Given the description of an element on the screen output the (x, y) to click on. 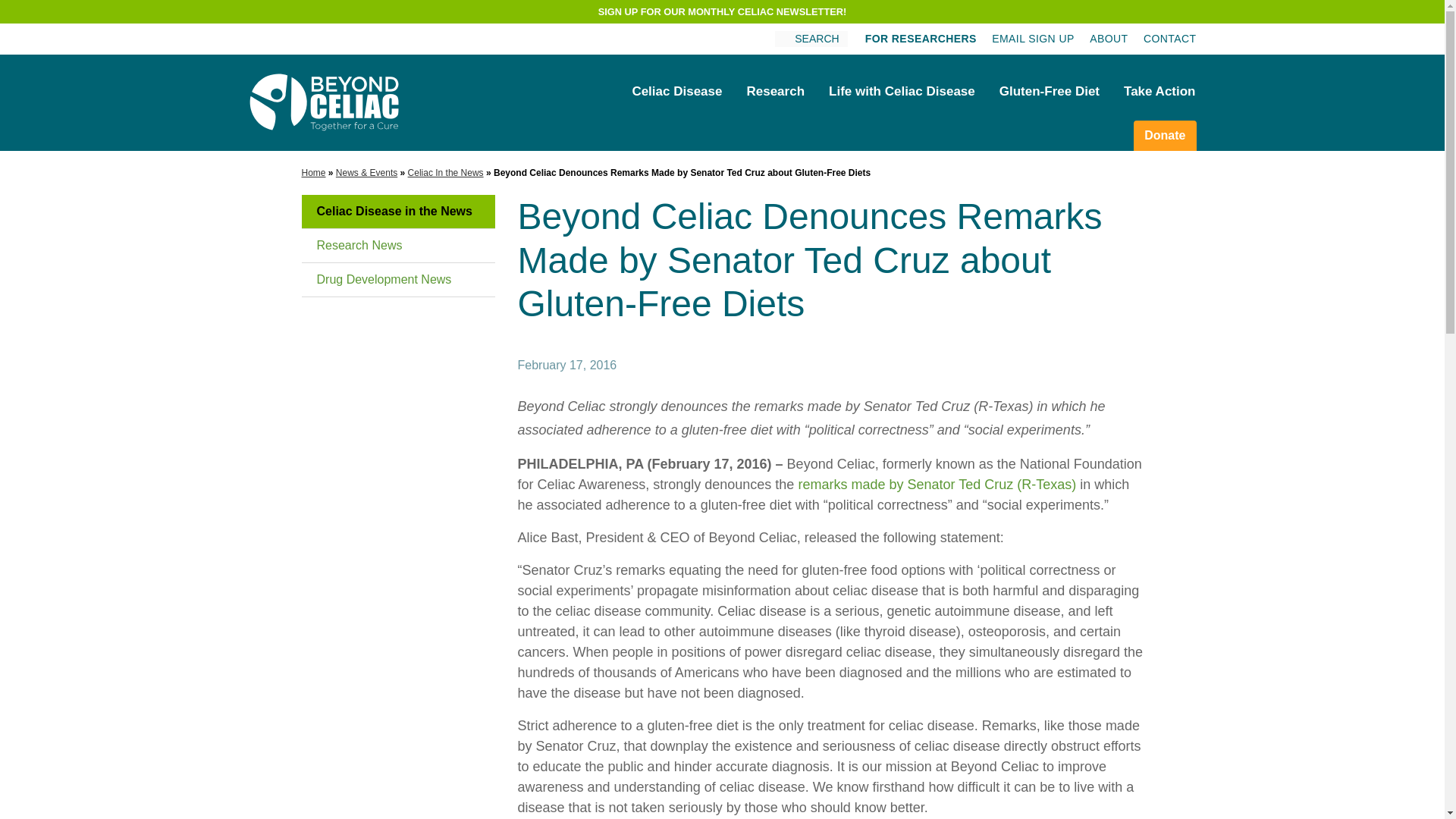
CONTACT (1169, 38)
Take Action (1159, 91)
ABOUT (1107, 38)
Life with Celiac Disease (901, 91)
EMAIL SIGN UP (1032, 38)
Research (774, 91)
Celiac Disease (676, 91)
FOR RESEARCHERS (920, 38)
Gluten-Free Diet (1049, 91)
